Given the description of an element on the screen output the (x, y) to click on. 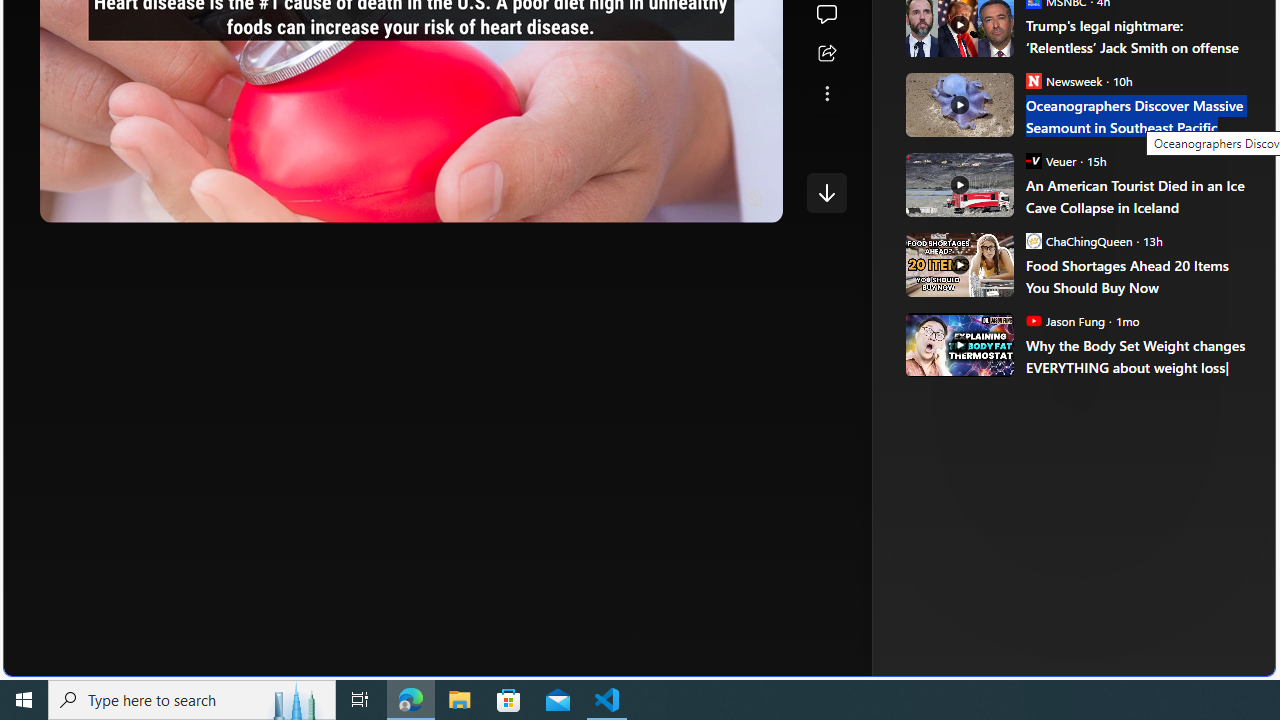
Food Shortages Ahead 20 Items You Should Buy Now (1136, 276)
Quality Settings (634, 200)
Veuer Veuer (1050, 160)
Pause (69, 200)
Jason Fung (1033, 320)
Progress Bar (411, 174)
ChaChingQueen ChaChingQueen (1078, 240)
Class: control (826, 192)
Share this story (826, 53)
Food Shortages Ahead 20 Items You Should Buy Now (958, 263)
